Given the description of an element on the screen output the (x, y) to click on. 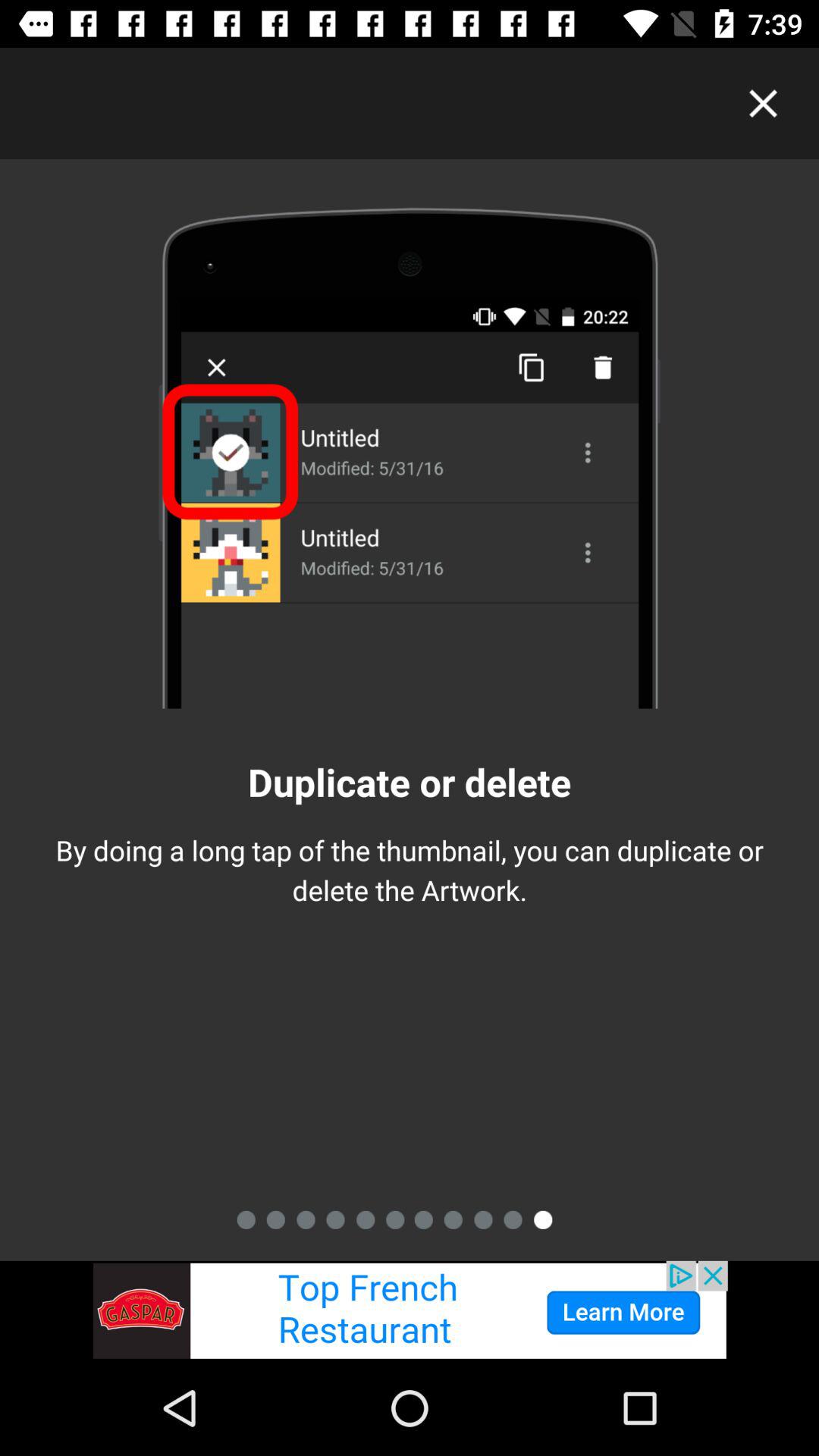
close menu (763, 103)
